Given the description of an element on the screen output the (x, y) to click on. 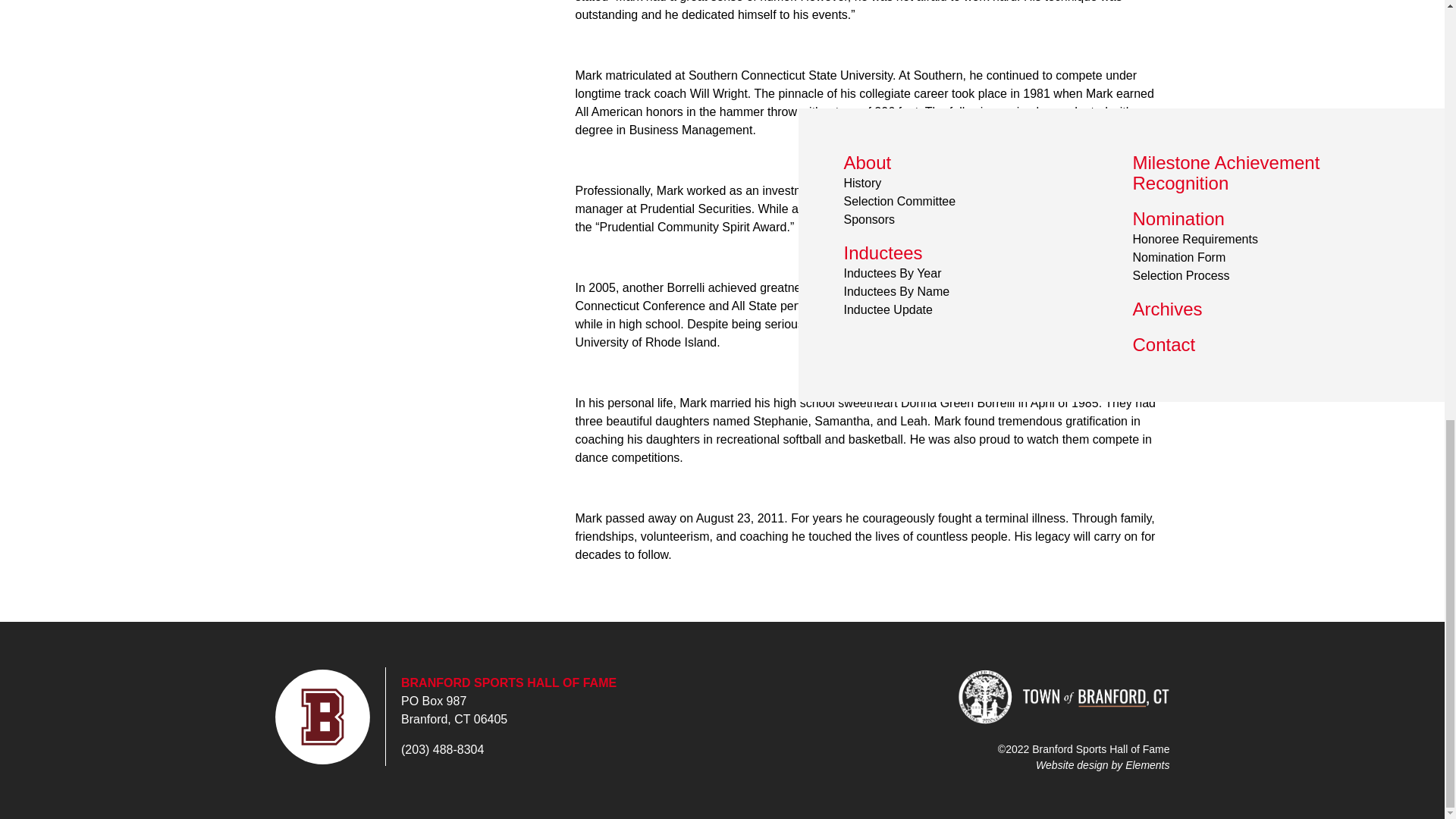
Elements (1147, 764)
